Given the description of an element on the screen output the (x, y) to click on. 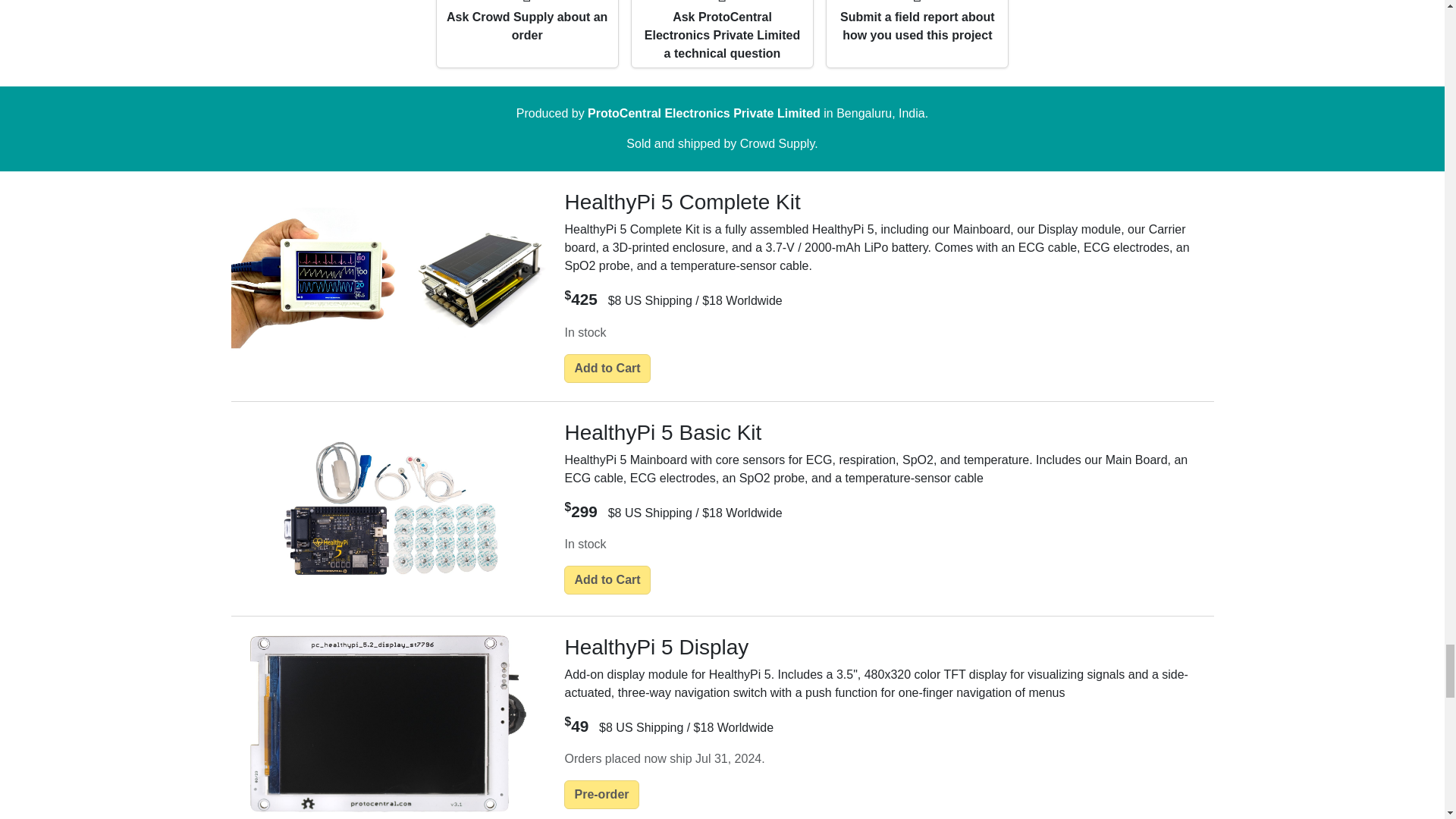
HealthyPi 5 Display (388, 723)
HealthyPi 5 Basic Kit (388, 508)
HealthyPi 5 Complete Kit (388, 277)
